Given the description of an element on the screen output the (x, y) to click on. 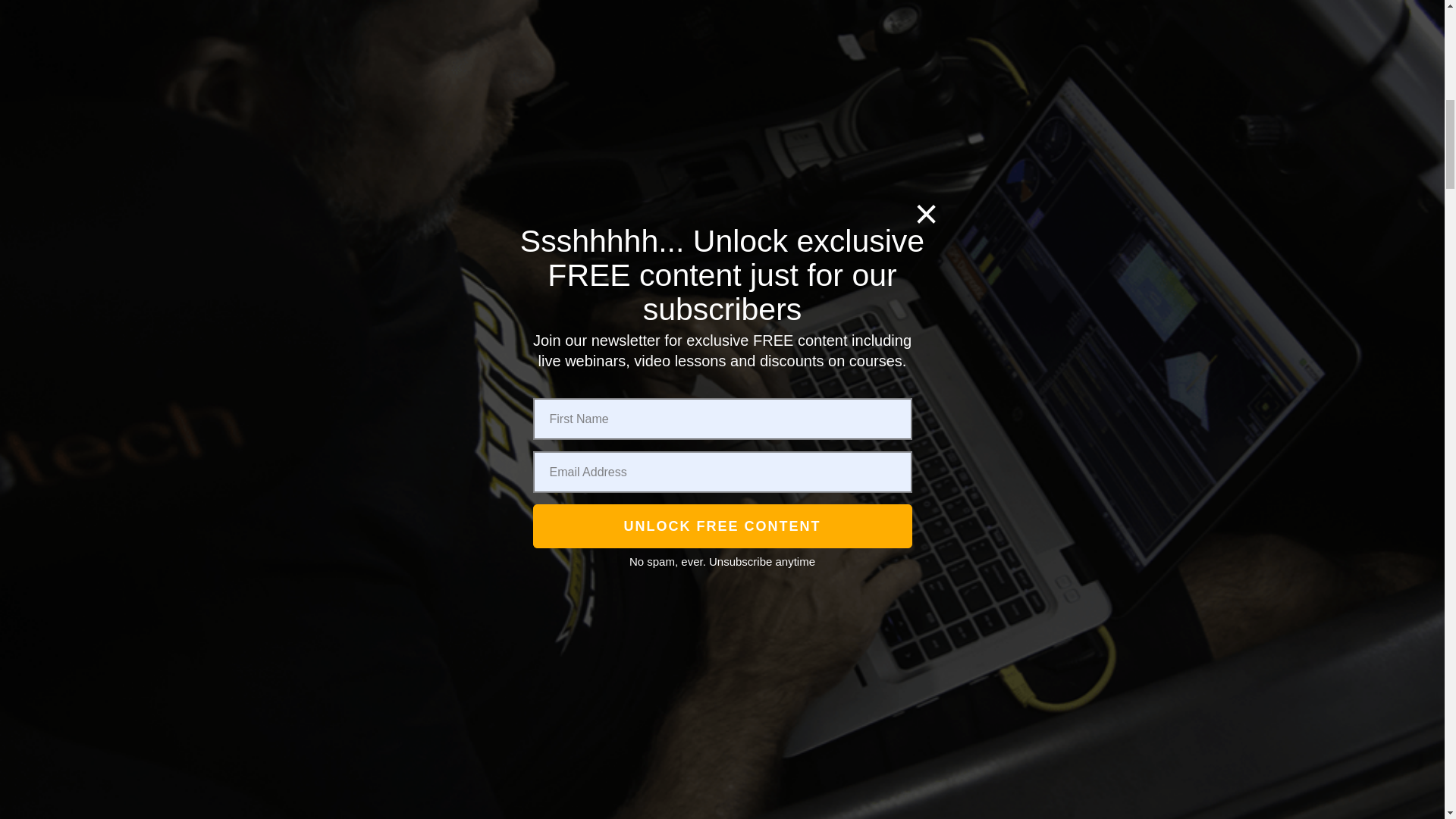
Click here to view UngluckInc (355, 607)
Click here to view UngluckInc (354, 540)
Click here to view NSMK3 (354, 748)
Click here to view NSMK3 (355, 800)
